Given the description of an element on the screen output the (x, y) to click on. 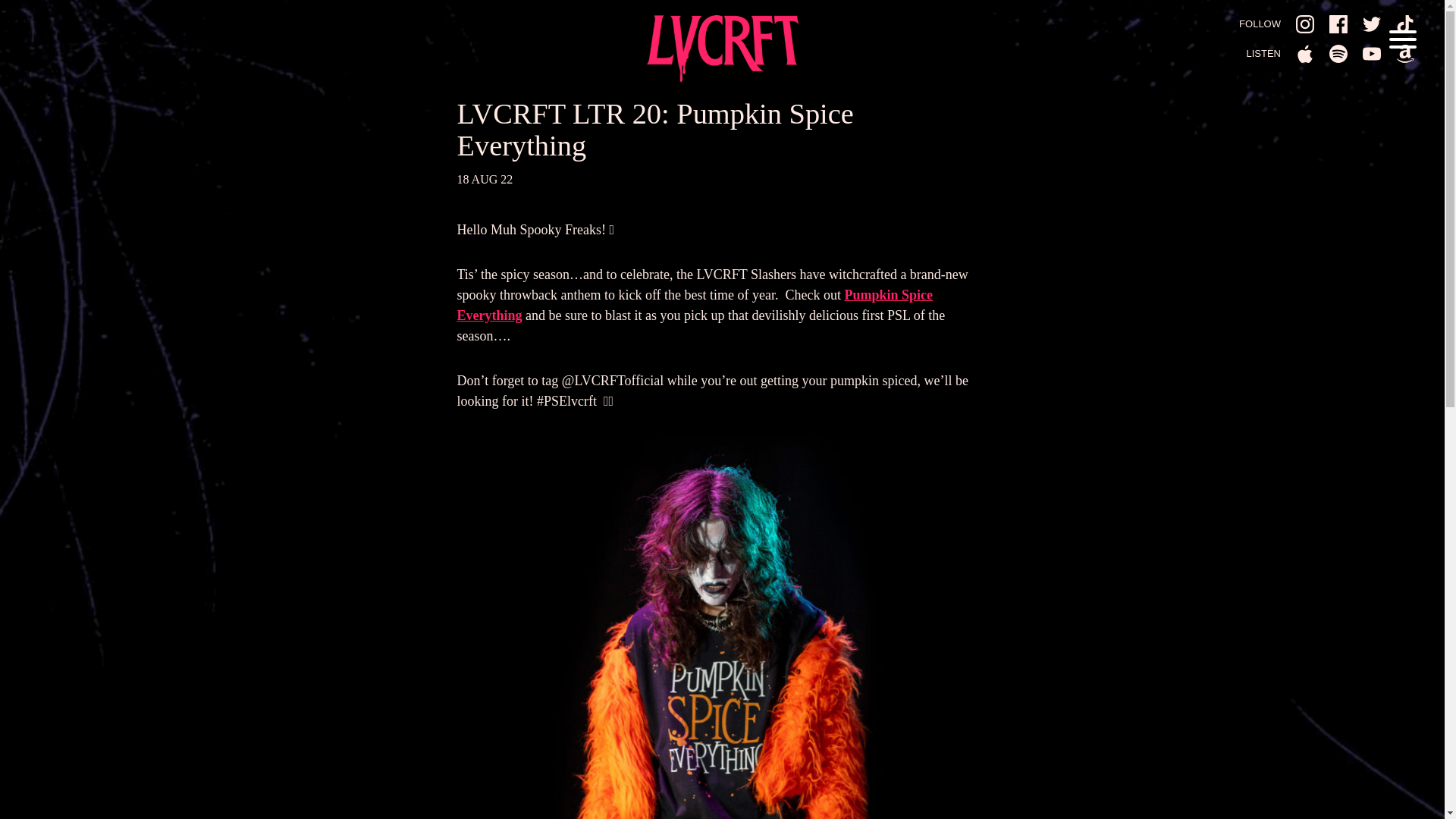
Search (872, 115)
Pumpkin Spice Everything (695, 304)
